Given the description of an element on the screen output the (x, y) to click on. 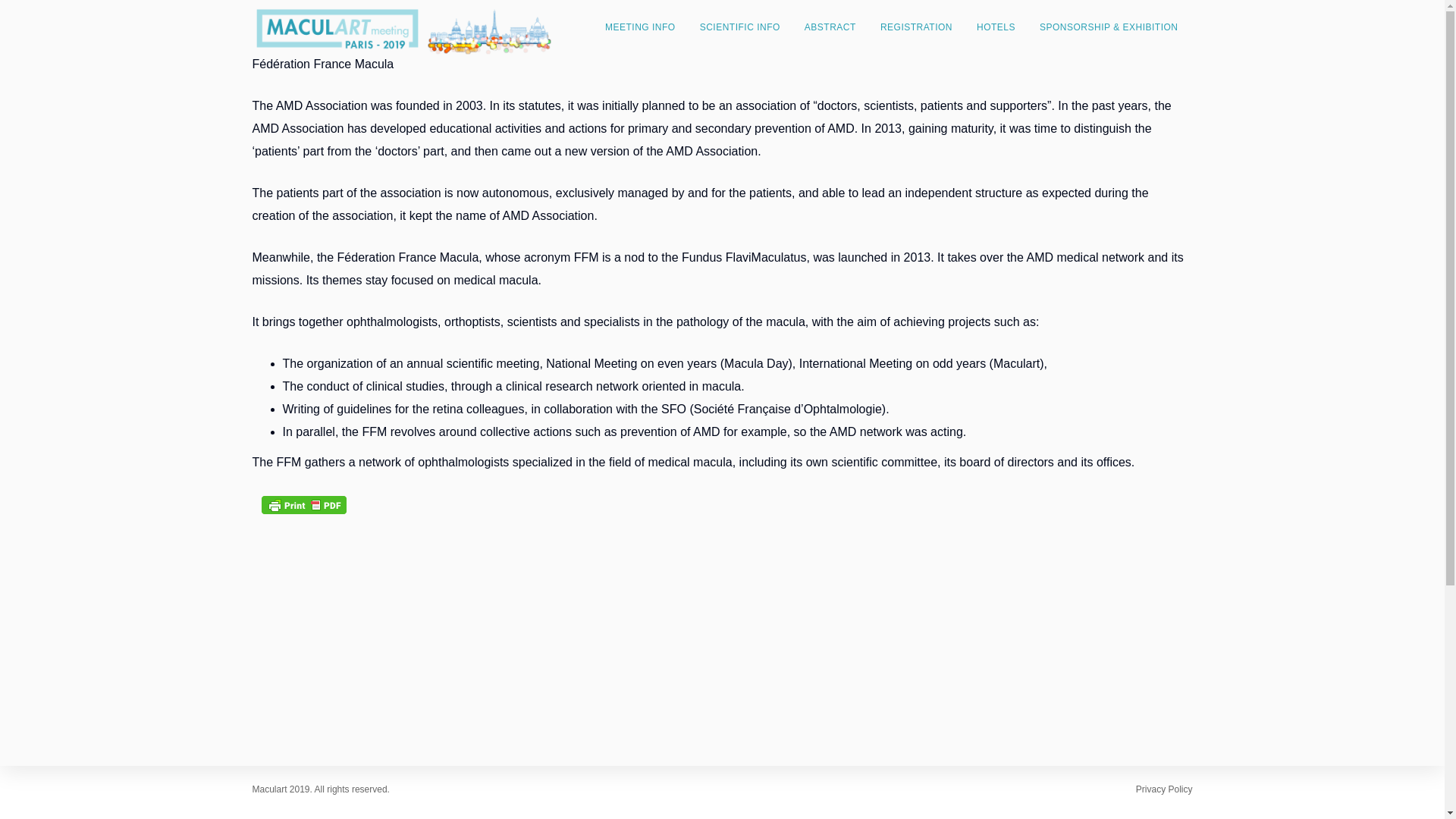
HOTELS (995, 26)
ABSTRACT (829, 26)
Scientific Info (739, 26)
Meeting Info (639, 26)
SCIENTIFIC INFO (739, 26)
REGISTRATION (915, 26)
MEETING INFO (639, 26)
